Given the description of an element on the screen output the (x, y) to click on. 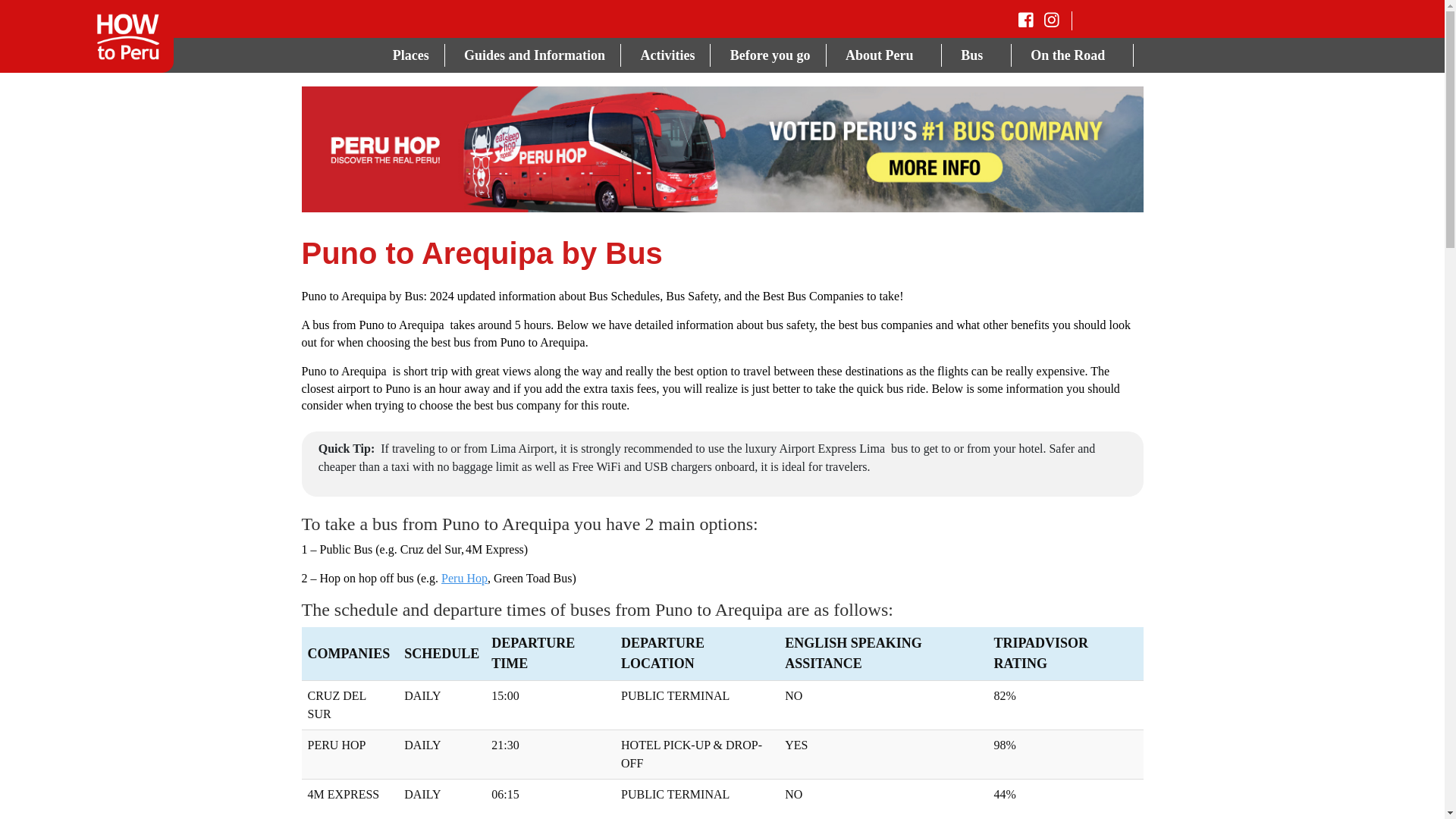
About Peru (885, 55)
Bus (978, 55)
